Given the description of an element on the screen output the (x, y) to click on. 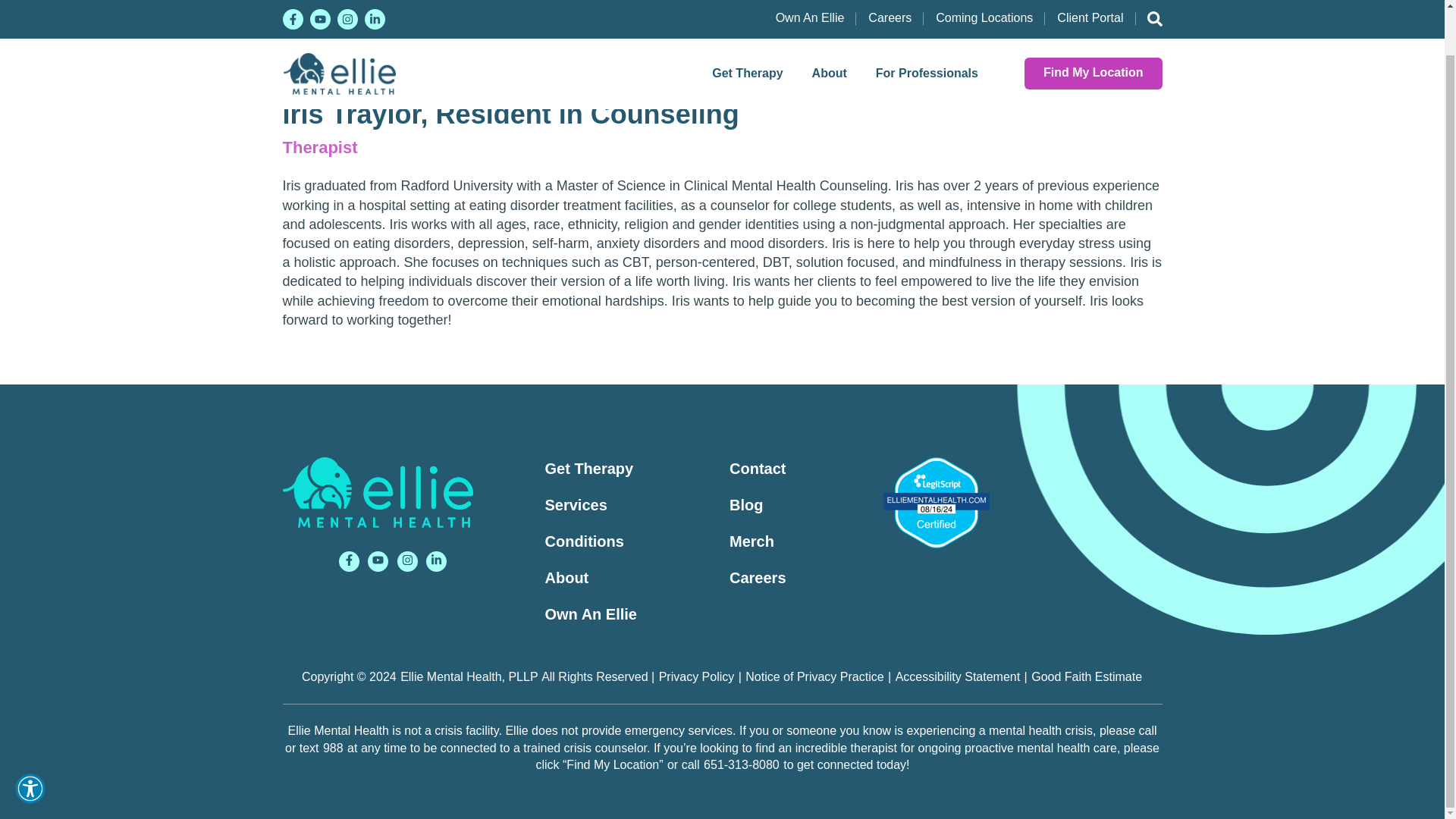
About (829, 25)
Find My Location (1093, 25)
For Professionals (926, 25)
YouTube (378, 561)
Get Therapy (746, 25)
Verify LegitScript Approval (935, 502)
Facebook (349, 561)
